Given the description of an element on the screen output the (x, y) to click on. 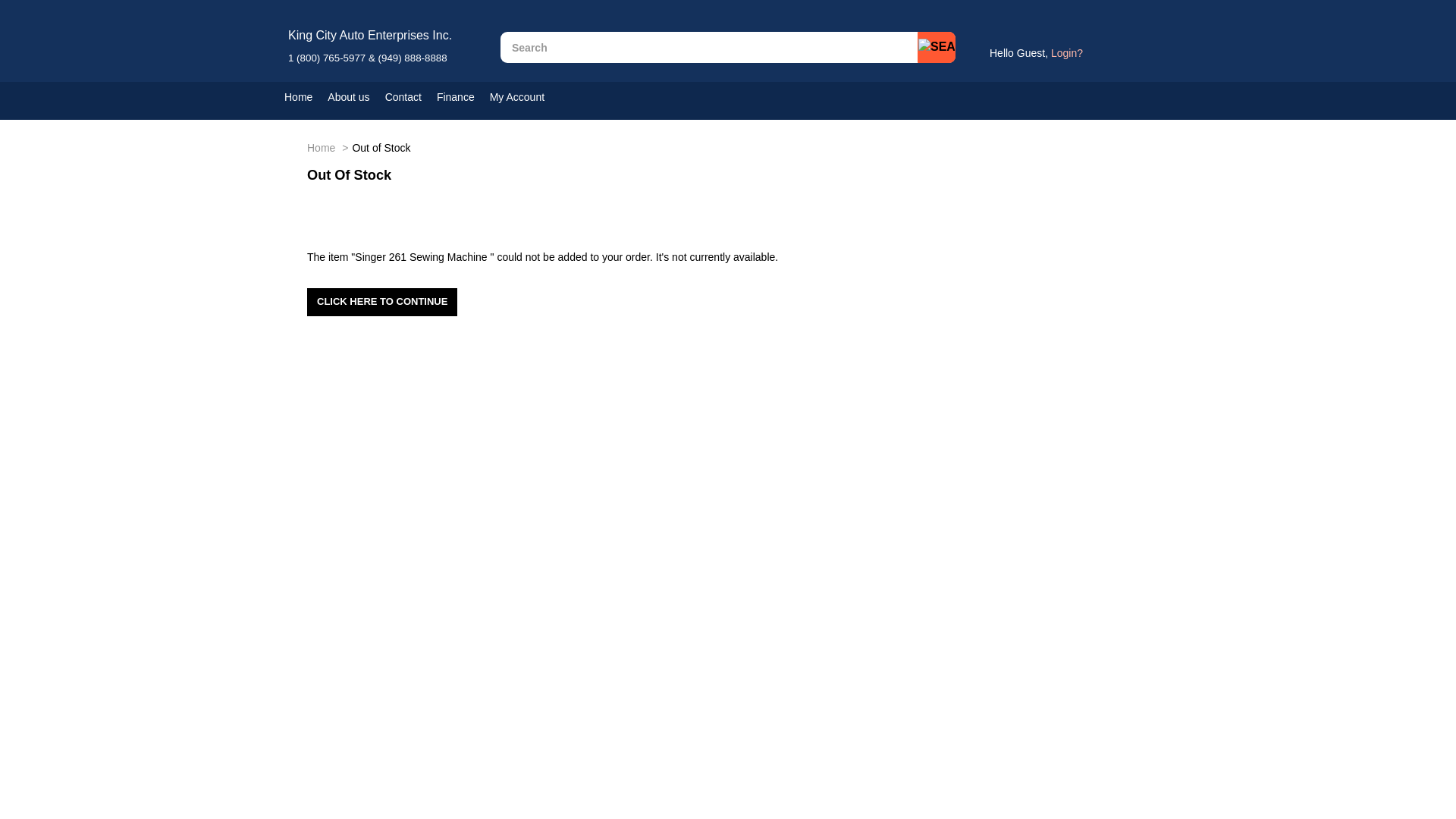
Contact (410, 97)
Finance (462, 97)
Click here to continue (382, 302)
My Account (524, 97)
Home (305, 97)
About us (355, 97)
Login? (1067, 52)
